Given the description of an element on the screen output the (x, y) to click on. 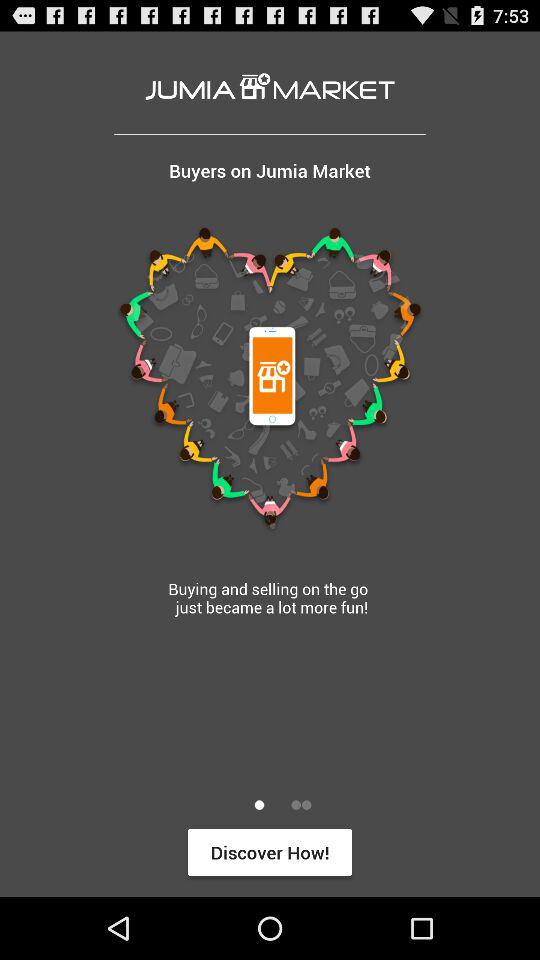
flip until discover how! (269, 852)
